Given the description of an element on the screen output the (x, y) to click on. 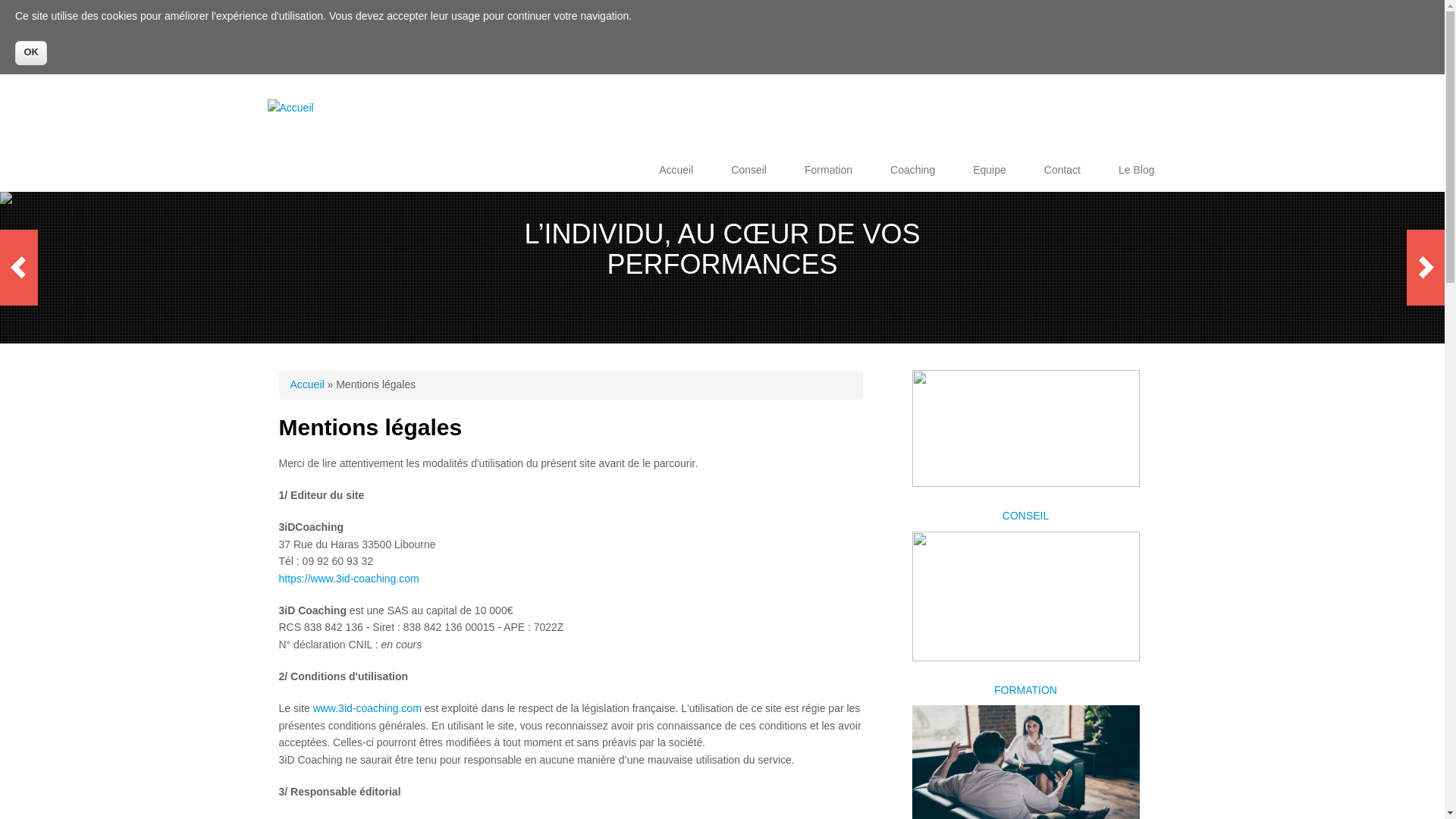
Formation Element type: text (828, 169)
OK Element type: text (31, 52)
Coaching Element type: text (912, 169)
Le Blog Element type: text (1136, 169)
CONSEIL Element type: text (1025, 512)
Accueil Element type: text (675, 169)
Equipe Element type: text (989, 169)
Accueil Element type: hover (289, 107)
www.3id-coaching.com Element type: text (367, 708)
Accueil Element type: text (306, 384)
Next Element type: text (1425, 267)
FORMATION Element type: text (1025, 686)
Previous Element type: text (18, 267)
Contact Element type: text (1062, 169)
https://www.3id-coaching.com Element type: text (349, 578)
Conseil Element type: text (748, 169)
